Given the description of an element on the screen output the (x, y) to click on. 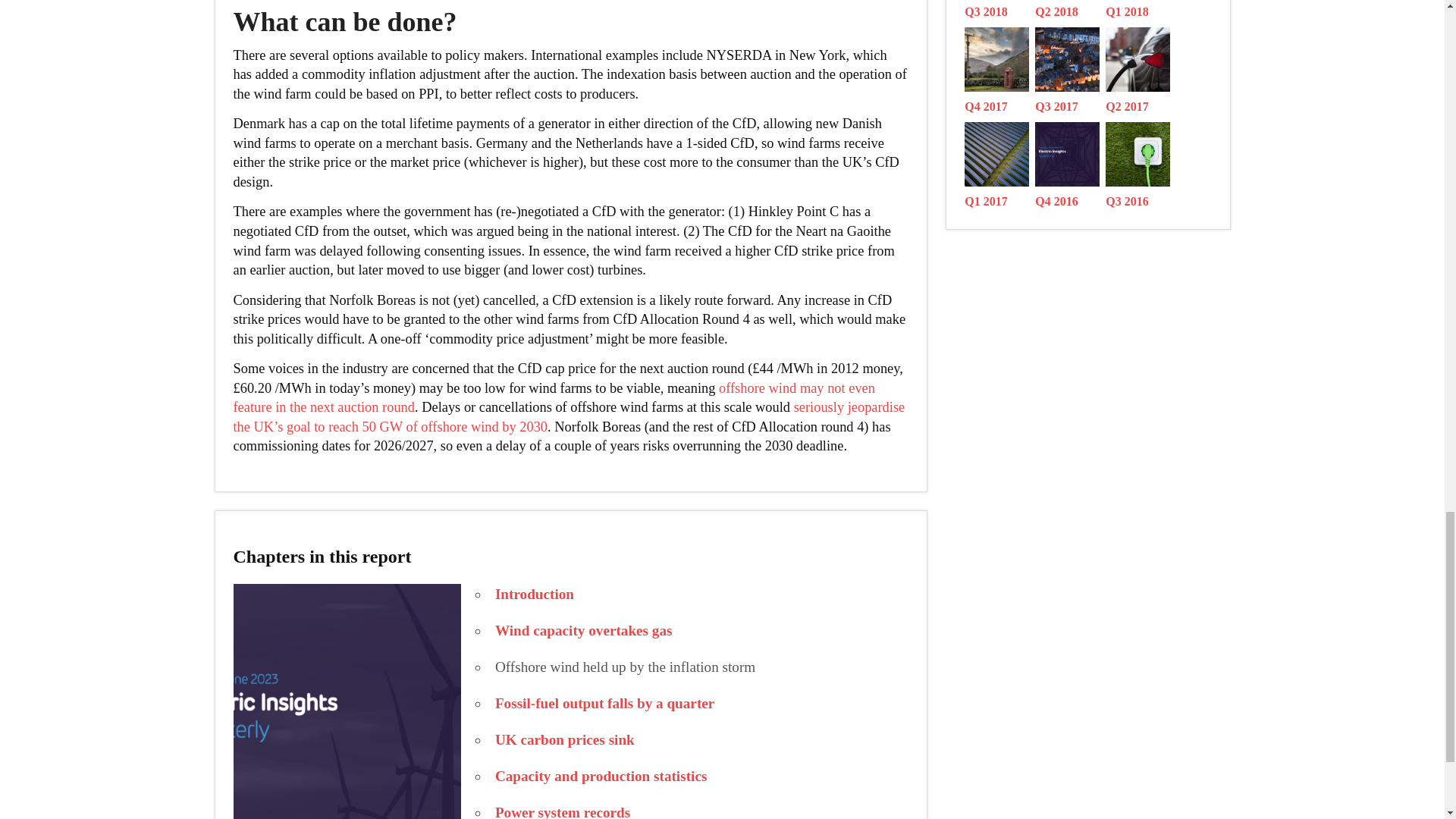
UK carbon prices sink (564, 739)
Introduction (534, 593)
Fossil-fuel output falls by a quarter (604, 703)
Capacity and production statistics (601, 775)
offshore wind may not even feature in the next auction round (553, 397)
Wind capacity overtakes gas (583, 630)
Power system records (562, 811)
